Given the description of an element on the screen output the (x, y) to click on. 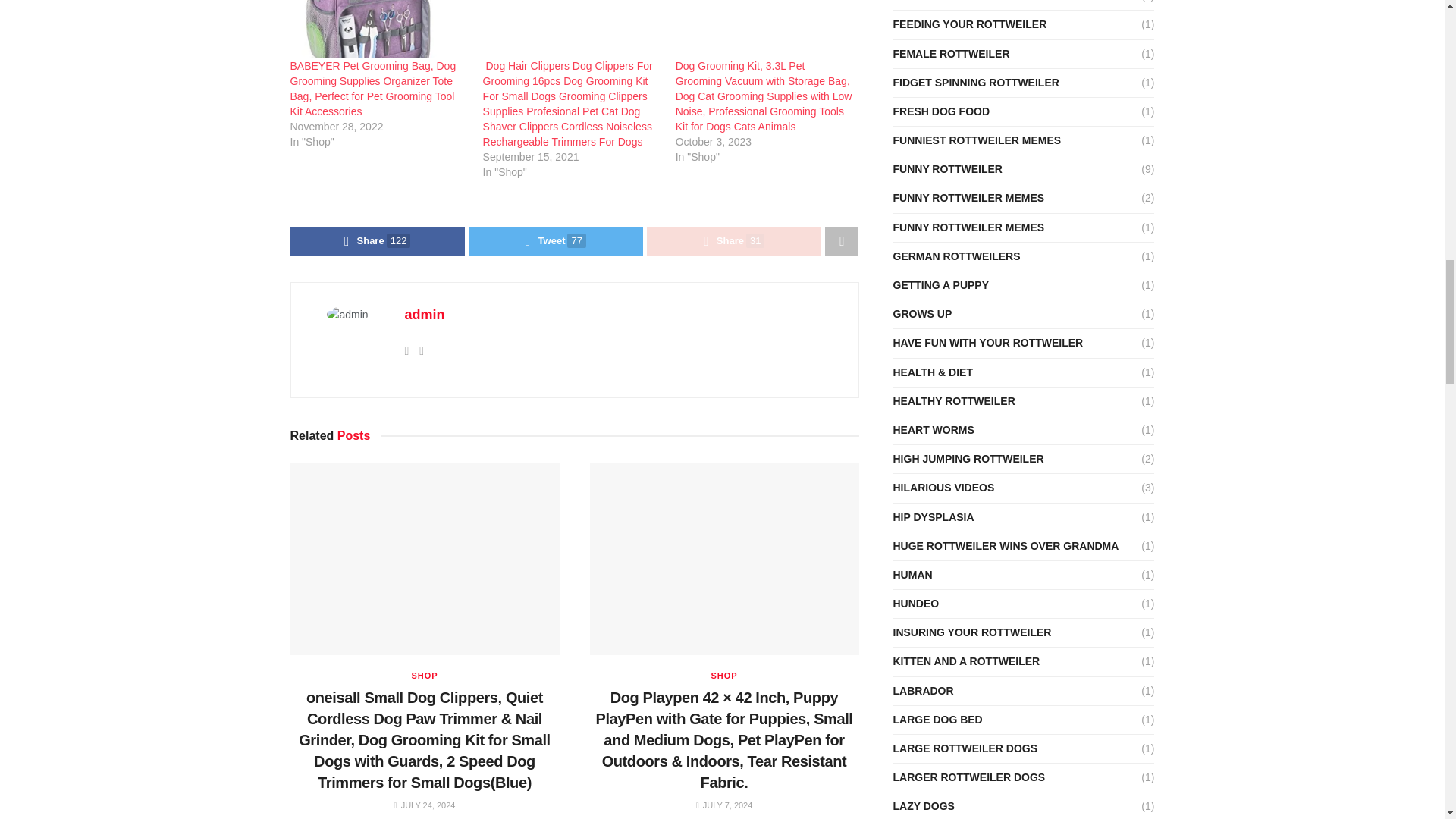
Share122 (376, 240)
